Given the description of an element on the screen output the (x, y) to click on. 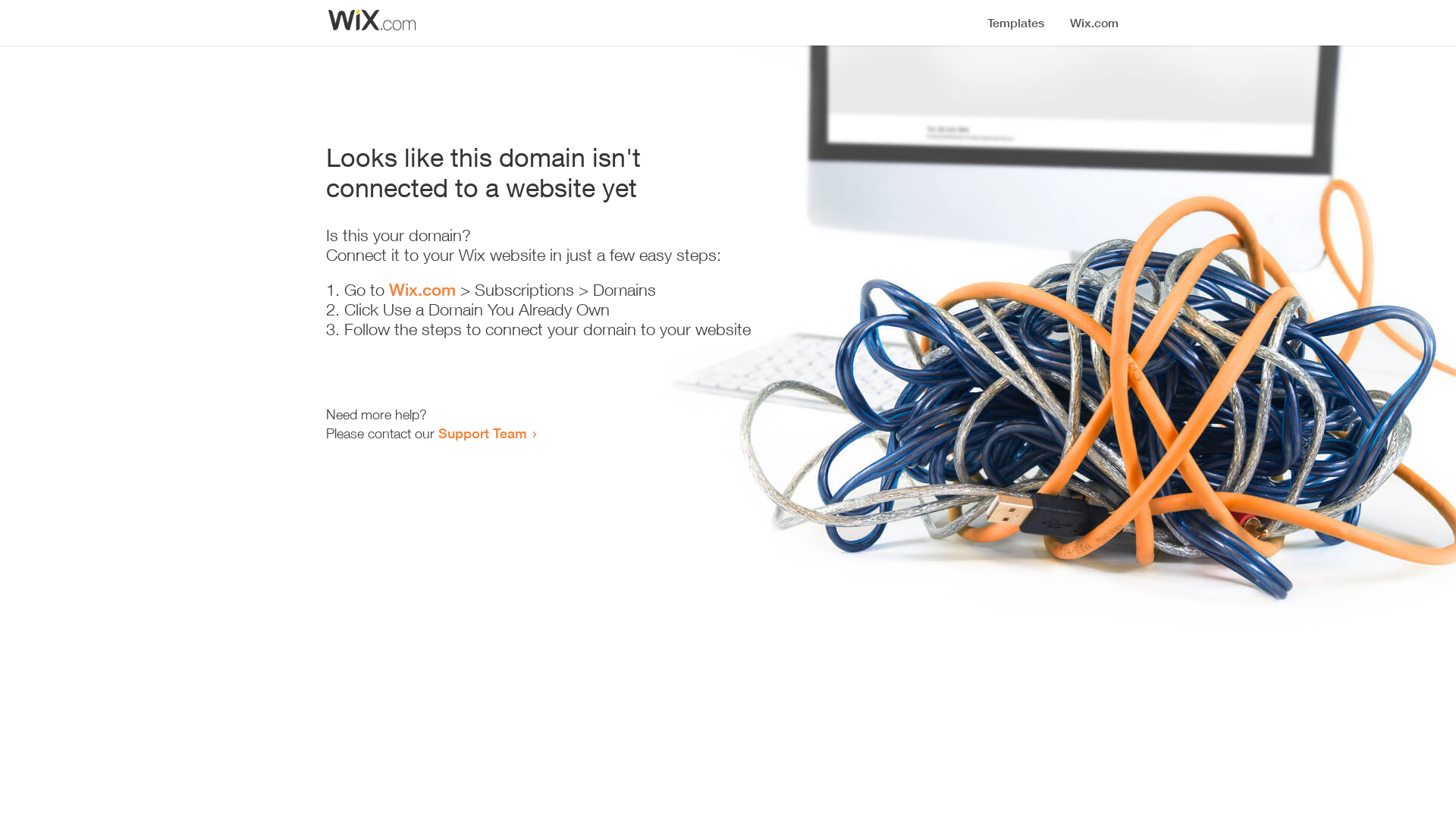
Wix.com Element type: text (422, 289)
Support Team Element type: text (482, 432)
